Given the description of an element on the screen output the (x, y) to click on. 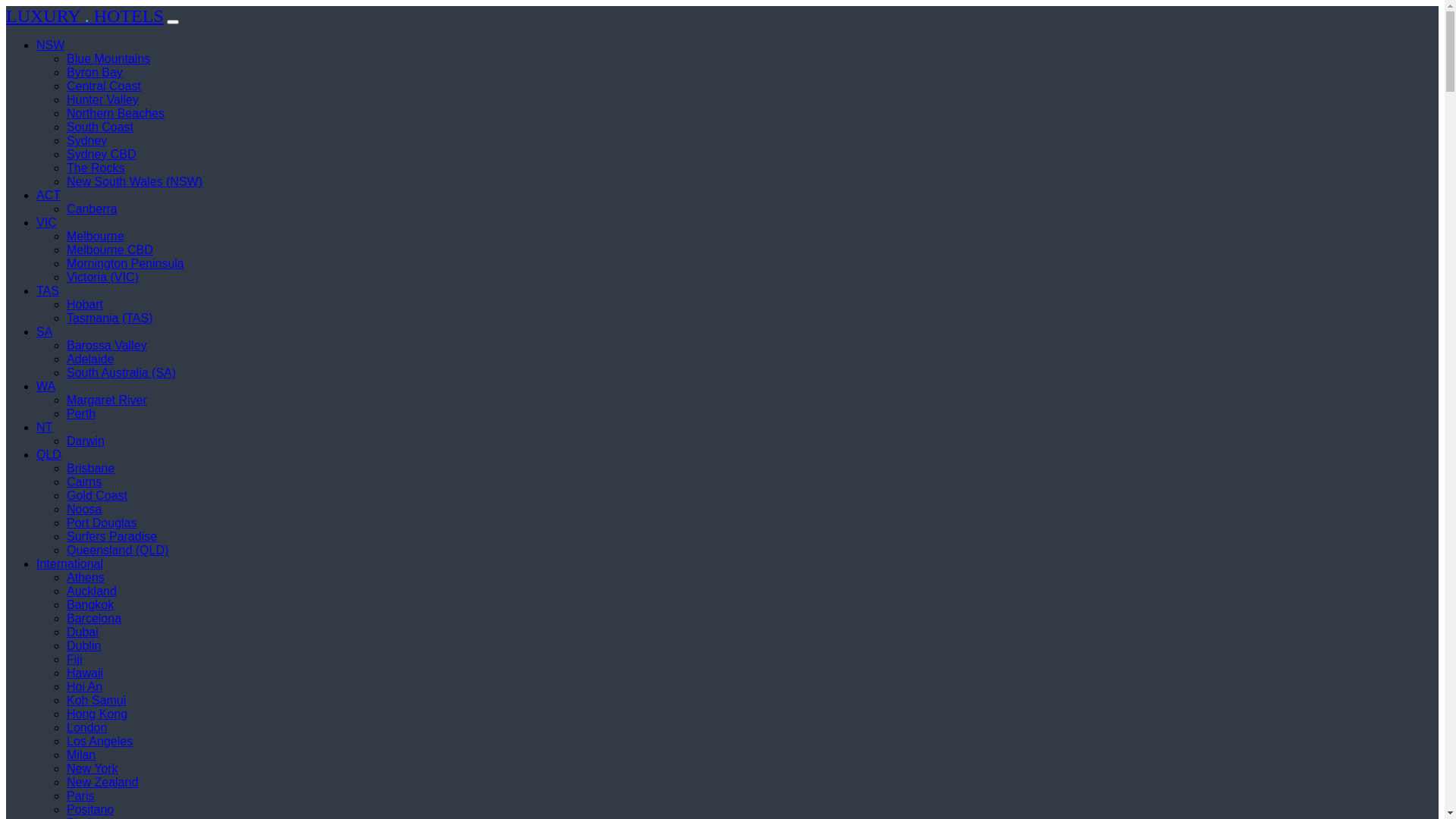
Positano Element type: text (89, 809)
TAS Element type: text (47, 290)
Koh Samui Element type: text (95, 699)
QLD Element type: text (48, 454)
VIC Element type: text (46, 222)
Athens Element type: text (85, 577)
WA Element type: text (45, 385)
Perth Element type: text (80, 413)
New York Element type: text (92, 768)
Queensland (QLD) Element type: text (117, 549)
Central Coast Element type: text (103, 85)
Canberra Element type: text (91, 208)
NT Element type: text (44, 426)
Darwin Element type: text (85, 440)
Los Angeles Element type: text (99, 740)
Byron Bay Element type: text (94, 71)
Adelaide Element type: text (89, 358)
International Element type: text (69, 563)
Dublin Element type: text (83, 645)
Fiji Element type: text (73, 658)
ACT Element type: text (48, 194)
Surfers Paradise Element type: text (111, 536)
Barcelona Element type: text (93, 617)
Victoria (VIC) Element type: text (102, 276)
Hunter Valley Element type: text (102, 99)
Tasmania (TAS) Element type: text (109, 317)
Dubai Element type: text (82, 631)
Mornington Peninsula Element type: text (125, 263)
Melbourne Element type: text (95, 235)
Hobart Element type: text (84, 304)
Cairns Element type: text (83, 481)
NSW Element type: text (50, 44)
Paris Element type: text (80, 795)
London Element type: text (86, 727)
Barossa Valley Element type: text (106, 344)
Northern Beaches Element type: text (115, 112)
South Australia (SA) Element type: text (120, 372)
Noosa Element type: text (83, 508)
Bangkok Element type: text (89, 604)
Brisbane Element type: text (90, 467)
New Zealand Element type: text (102, 781)
Melbourne CBD Element type: text (109, 249)
Margaret River Element type: text (106, 399)
LUXURY . HOTELS Element type: text (84, 15)
Auckland Element type: text (91, 590)
Blue Mountains Element type: text (108, 58)
Milan Element type: text (80, 754)
New South Wales (NSW) Element type: text (134, 181)
Hoi An Element type: text (84, 686)
Port Douglas Element type: text (101, 522)
Sydney Element type: text (86, 140)
Gold Coast Element type: text (96, 495)
Sydney CBD Element type: text (101, 153)
Hong Kong Element type: text (96, 713)
Hawaii Element type: text (84, 672)
The Rocks Element type: text (95, 167)
SA Element type: text (44, 331)
South Coast Element type: text (99, 126)
